Given the description of an element on the screen output the (x, y) to click on. 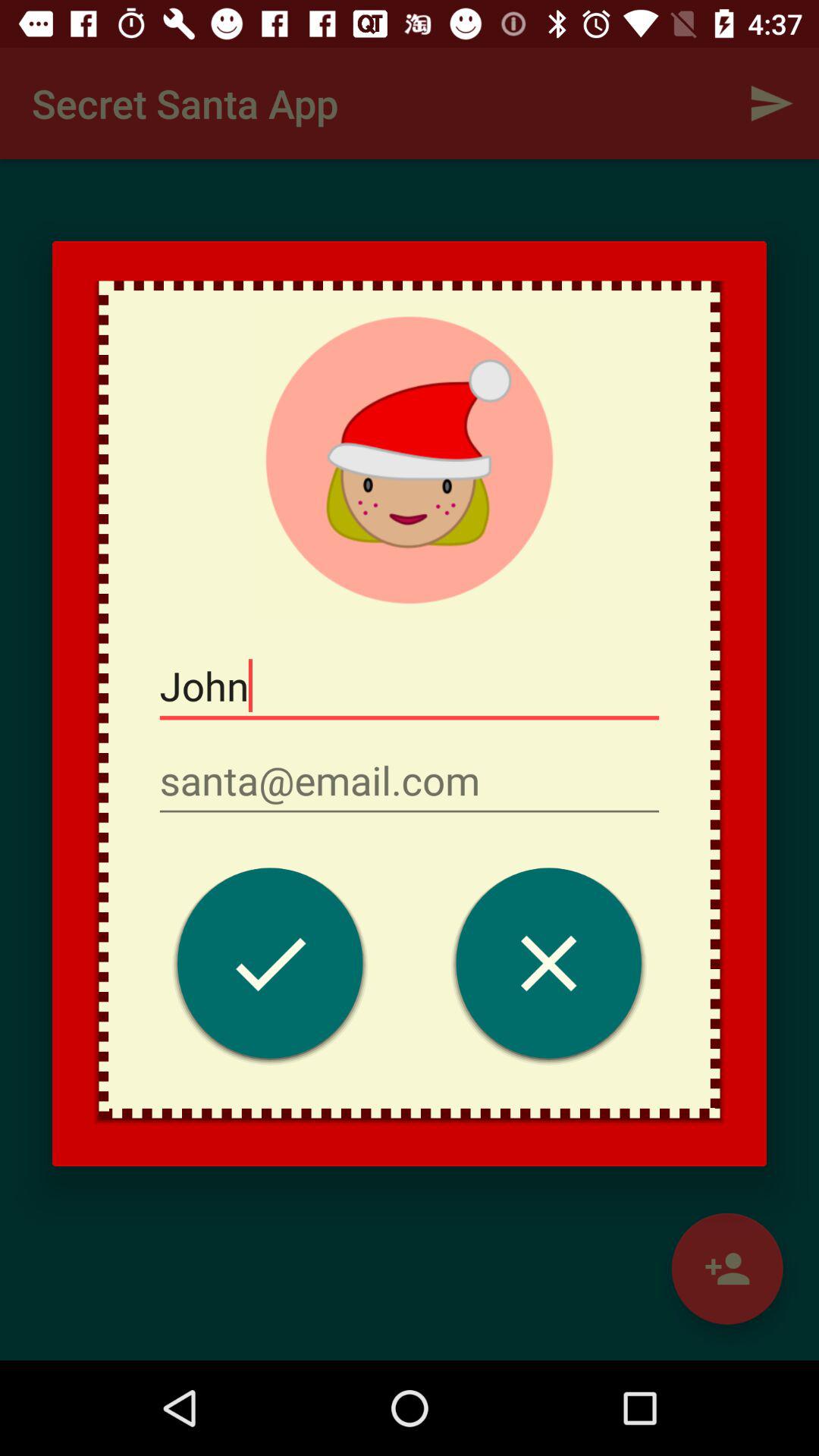
jump until john item (409, 686)
